Given the description of an element on the screen output the (x, y) to click on. 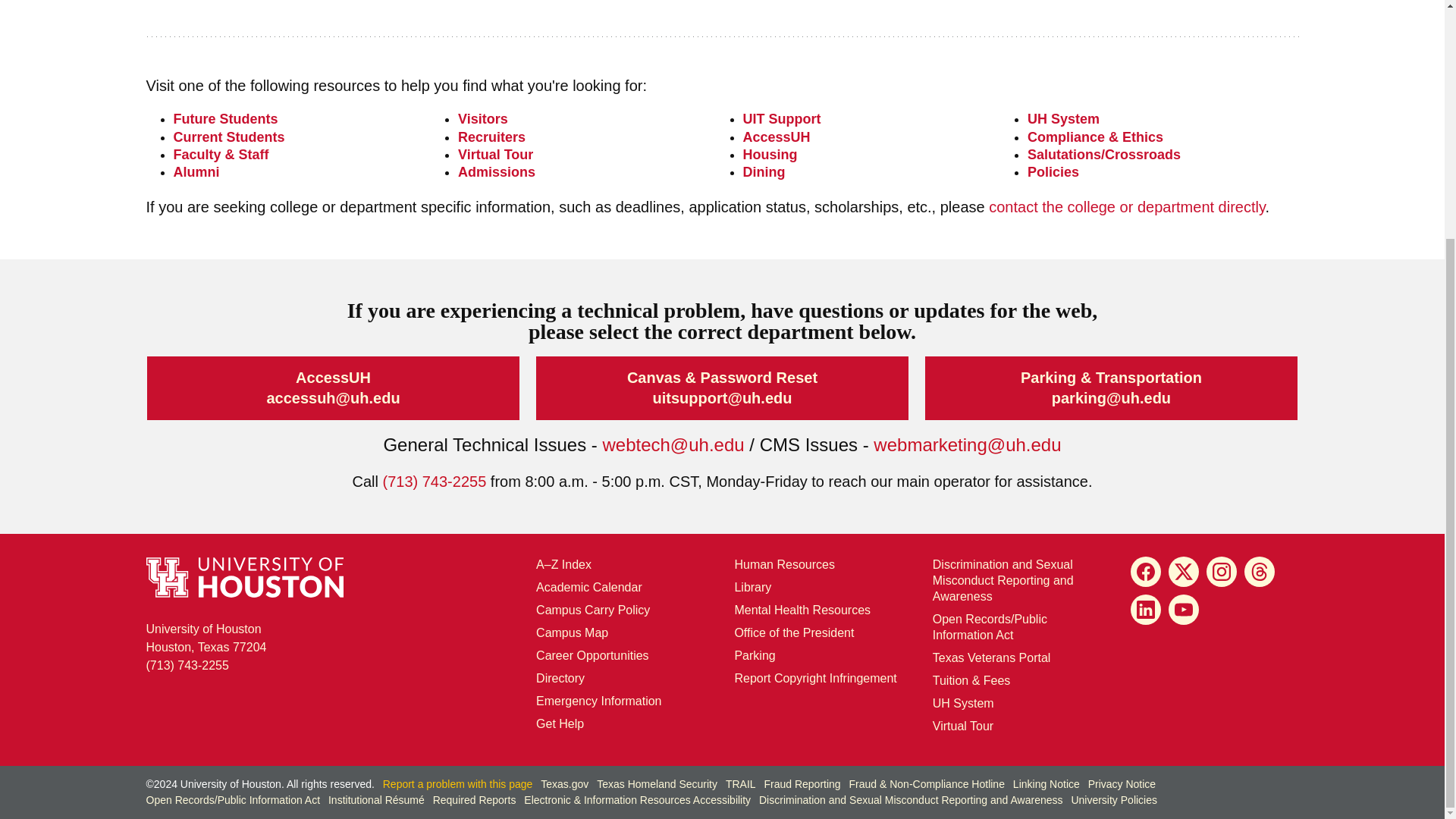
Instagram (1221, 571)
University of Houston (941, 703)
Visitors (483, 118)
Campus Map (571, 632)
University of Houston (1016, 444)
Admissions (496, 171)
Threads (1259, 571)
Academic Calendar (588, 586)
University of Houston (1130, 397)
Recruiters (491, 136)
Current Students (228, 136)
University of Houston (698, 444)
Dining (764, 171)
University of Houston (751, 397)
LinkedIn (1145, 609)
